Given the description of an element on the screen output the (x, y) to click on. 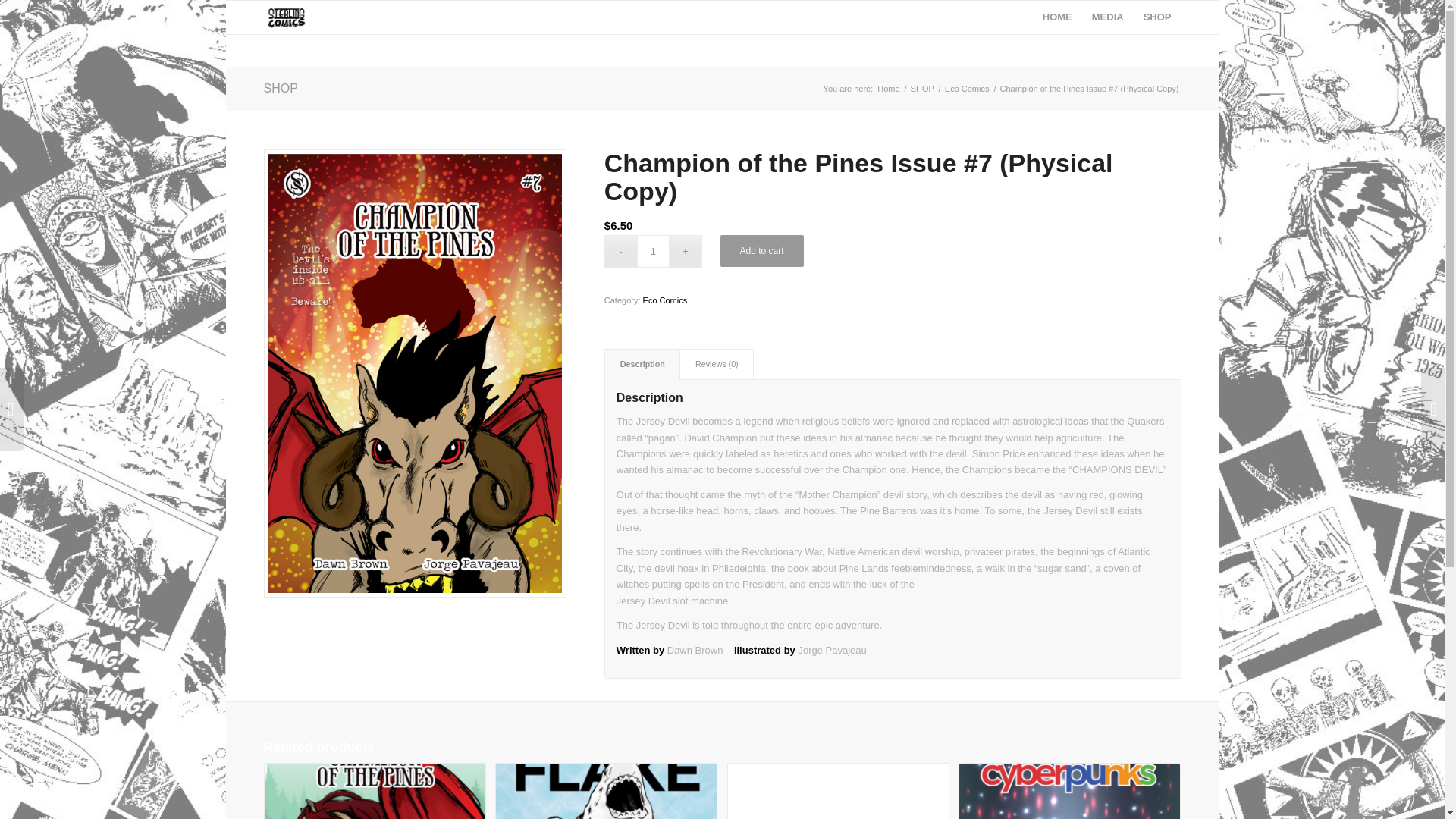
Description (641, 364)
Permanent Link: SHOP (280, 88)
Eco Comics (966, 89)
Sterling Comic Books (888, 89)
1 (653, 251)
Home (888, 89)
Add to cart (761, 250)
SHOP (280, 88)
Eco Comics (966, 89)
Description (641, 364)
SHOP (922, 89)
Eco Comics (665, 299)
- (620, 251)
SHOP (922, 89)
Qty (653, 251)
